Given the description of an element on the screen output the (x, y) to click on. 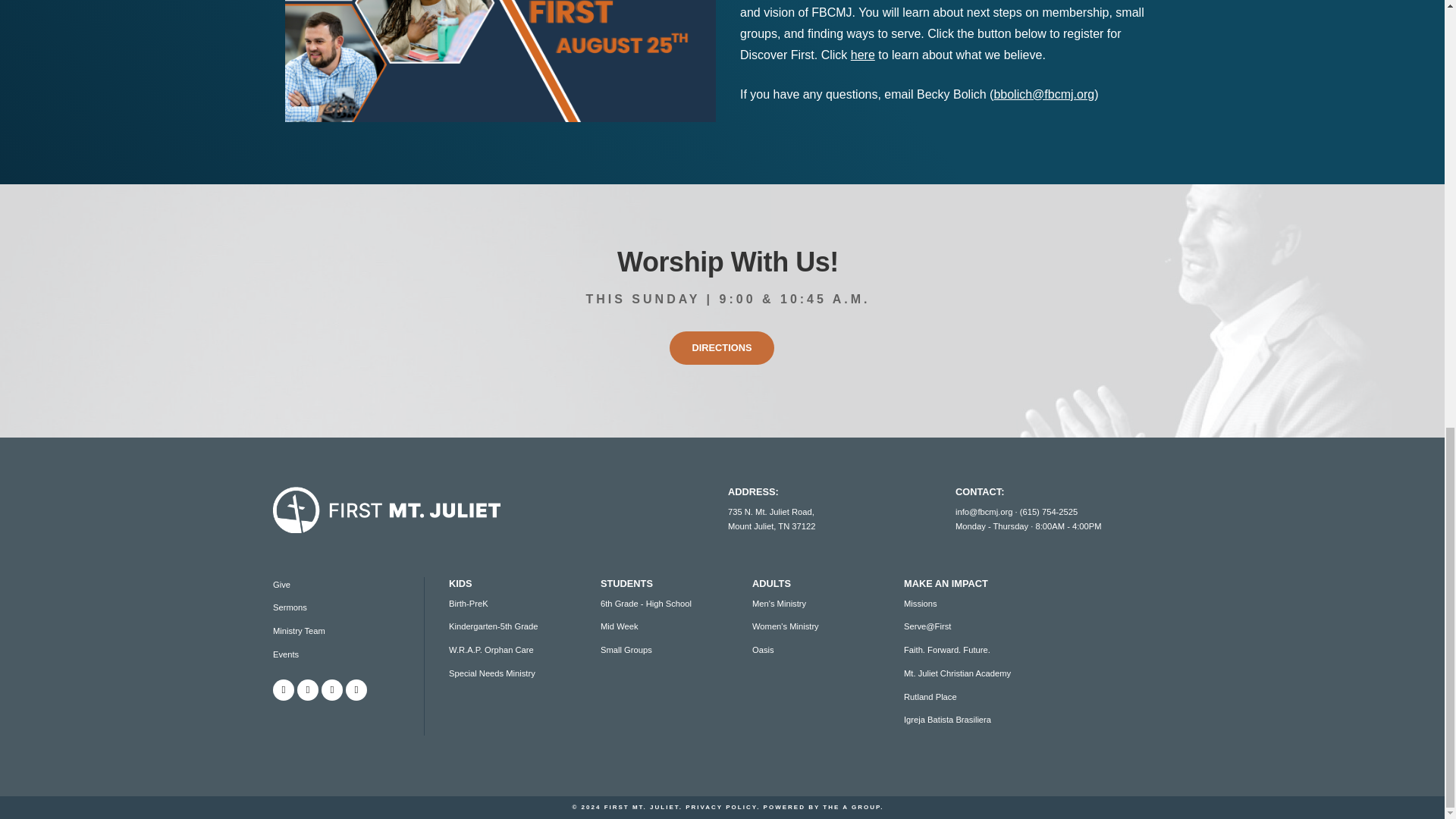
DIRECTIONS (721, 347)
Birth-PreK (467, 603)
here (862, 54)
W.R.A.P. Orphan Care (491, 649)
Events (285, 654)
Ministry Team (298, 630)
Give (281, 583)
Sermons (290, 606)
Kindergarten-5th Grade (493, 625)
